Given the description of an element on the screen output the (x, y) to click on. 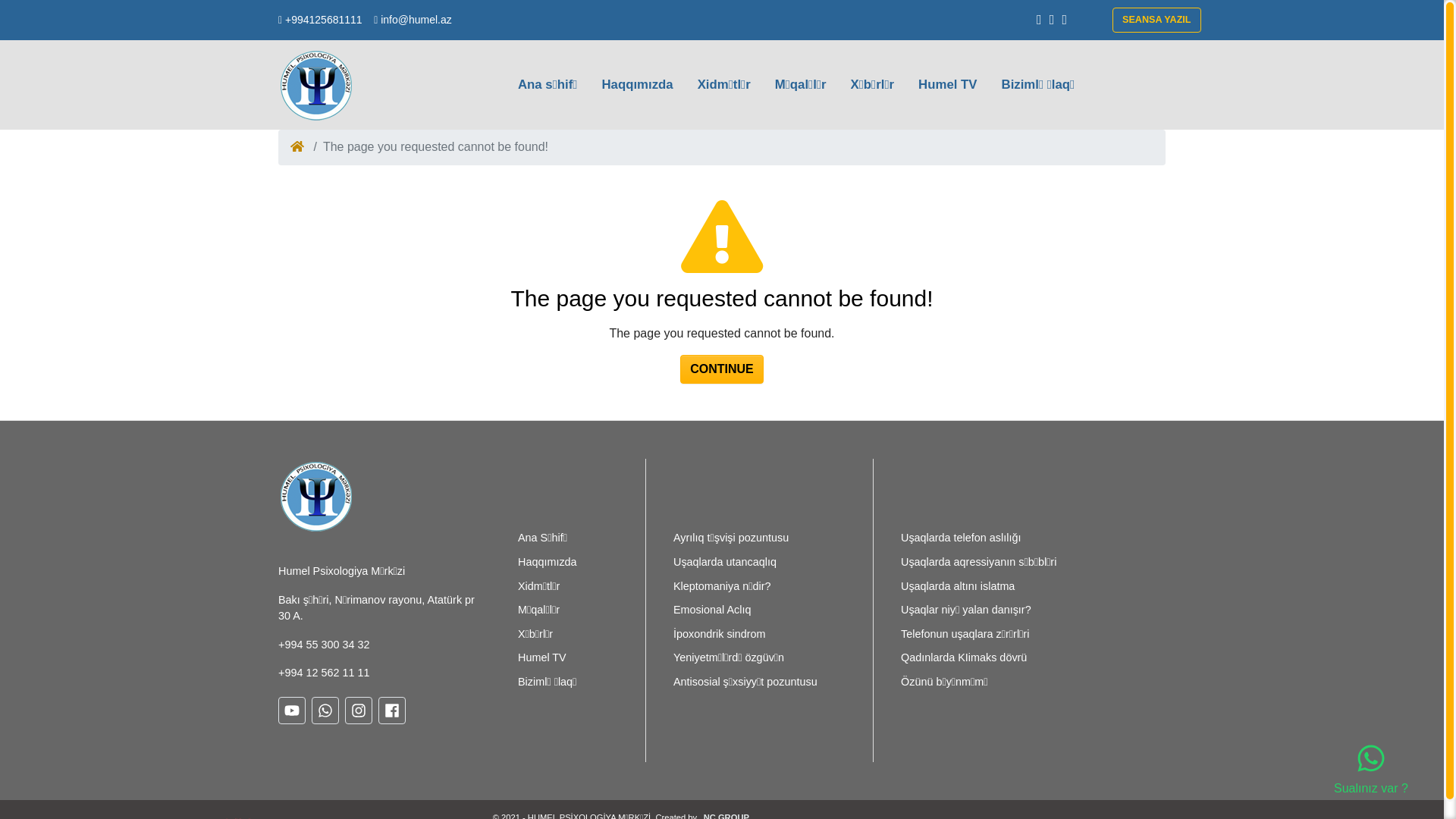
CONTINUE Element type: text (721, 368)
Humel TV Element type: text (547, 658)
SEANSA YAZIL Element type: text (1156, 19)
 info@humel.az Element type: text (412, 20)
 +994125681111 Element type: text (320, 20)
Humel TV Element type: text (947, 84)
